Given the description of an element on the screen output the (x, y) to click on. 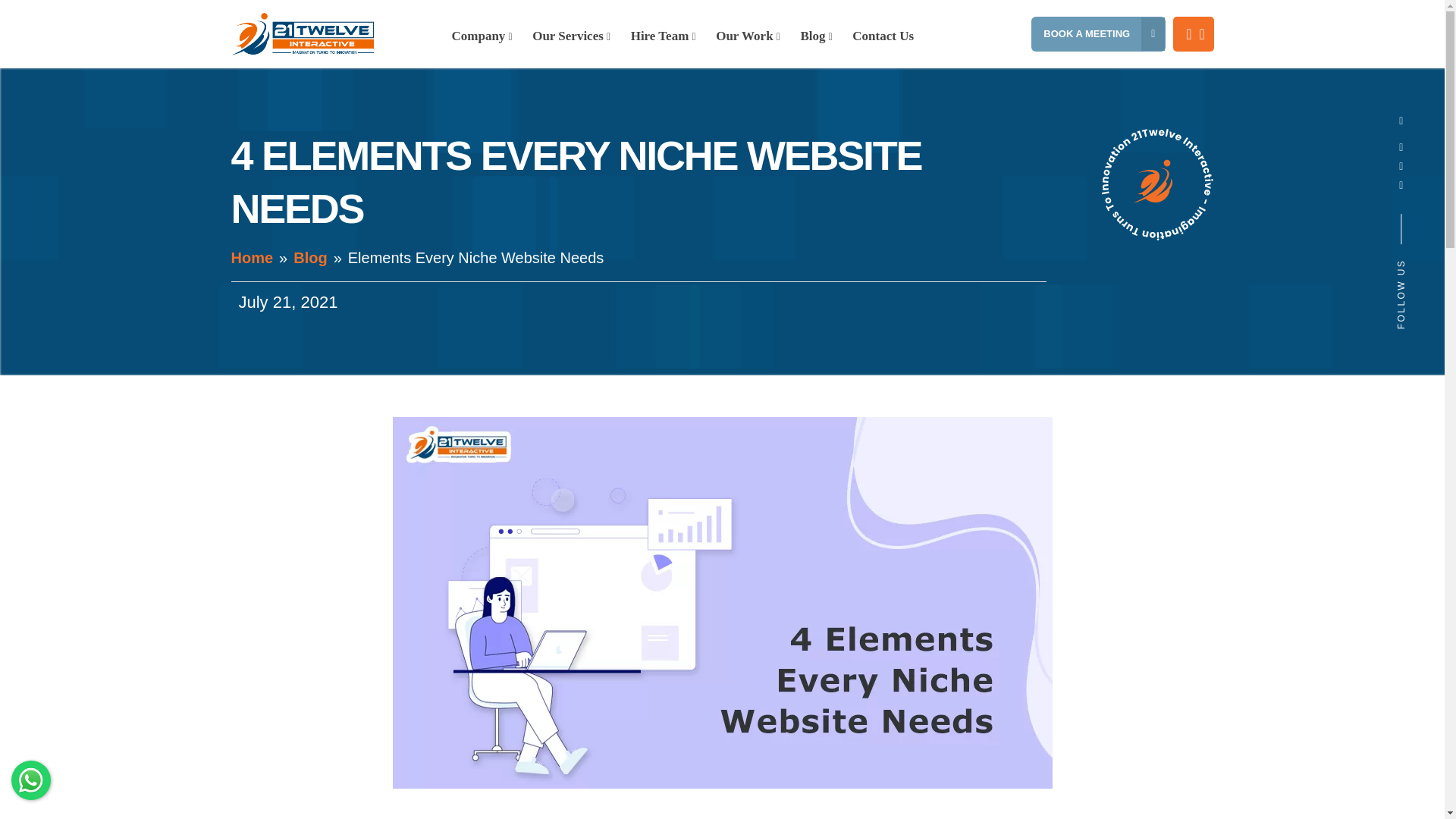
Company (480, 39)
BOOK A MEETING (1114, 33)
Our Services (571, 39)
